Given the description of an element on the screen output the (x, y) to click on. 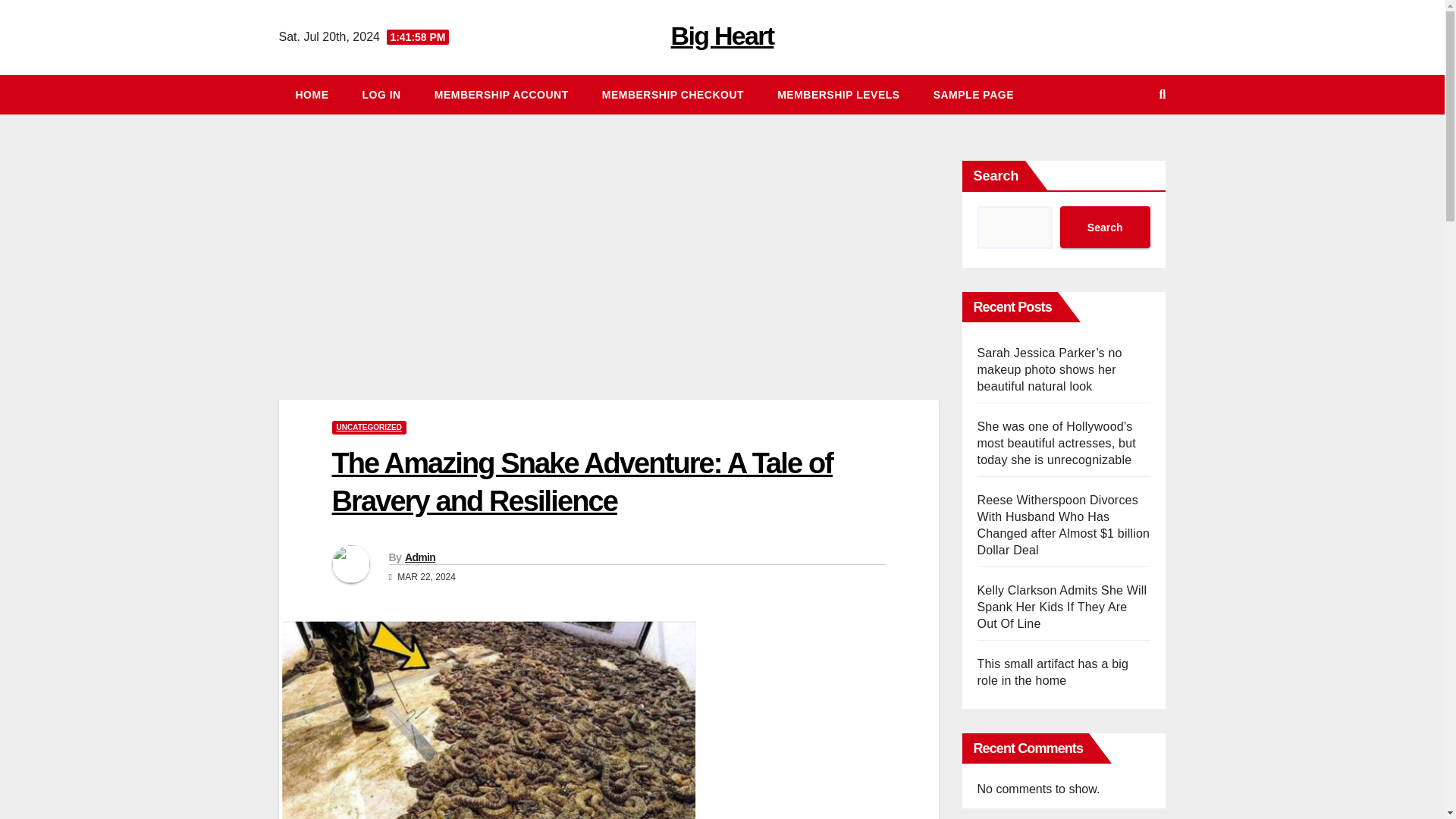
HOME (312, 94)
MEMBERSHIP CHECKOUT (672, 94)
LOG IN (381, 94)
Big Heart (722, 35)
Home (312, 94)
MEMBERSHIP ACCOUNT (501, 94)
Admin (419, 557)
UNCATEGORIZED (368, 427)
MEMBERSHIP LEVELS (838, 94)
SAMPLE PAGE (973, 94)
